Given the description of an element on the screen output the (x, y) to click on. 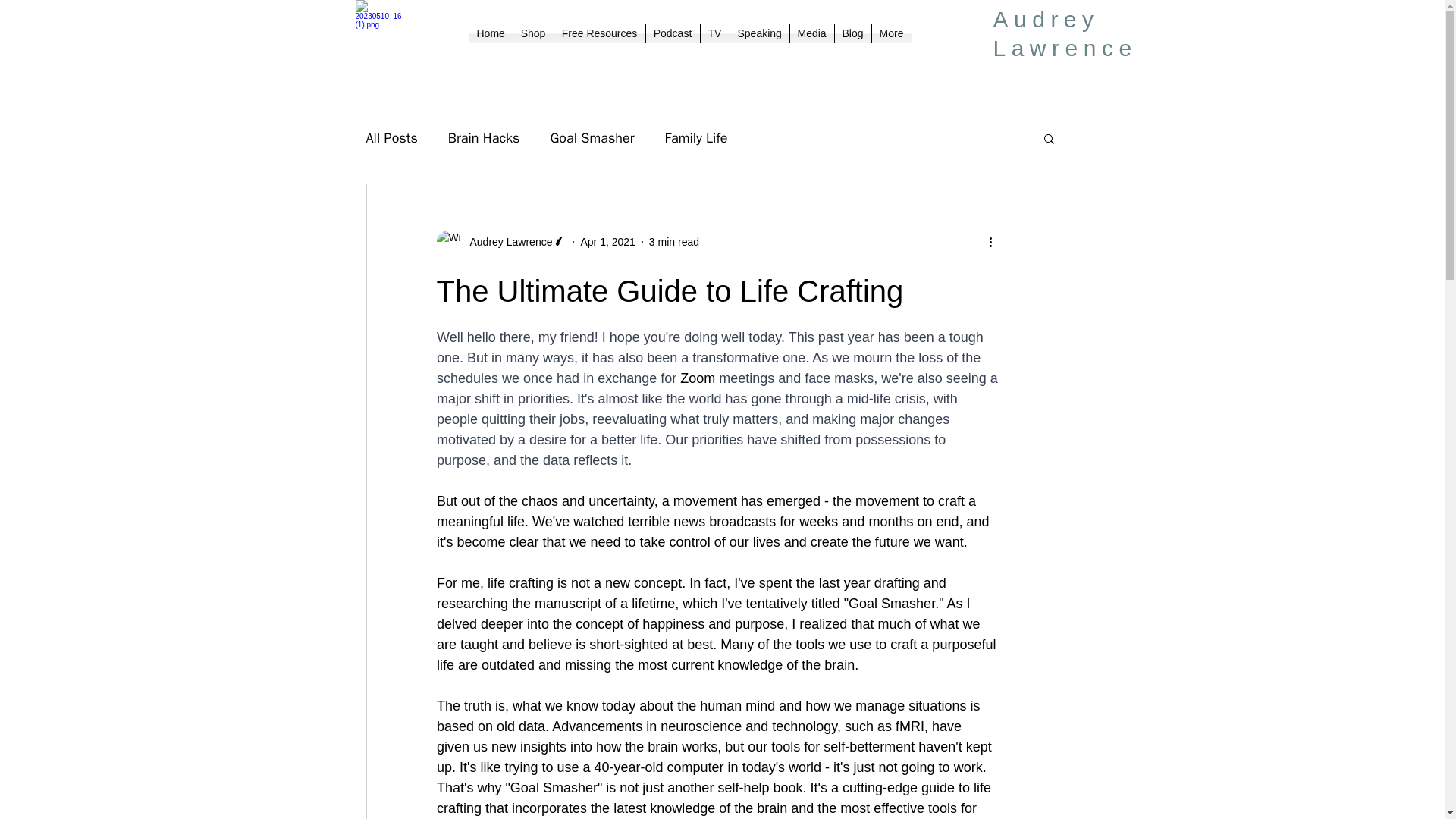
Podcast (673, 33)
Family Life (694, 137)
Blog (852, 33)
Audrey Lawrence (507, 241)
Speaking (759, 33)
Free Resources (599, 33)
Home (490, 33)
Brain Hacks (483, 137)
All Posts (390, 137)
Shop (532, 33)
